Given the description of an element on the screen output the (x, y) to click on. 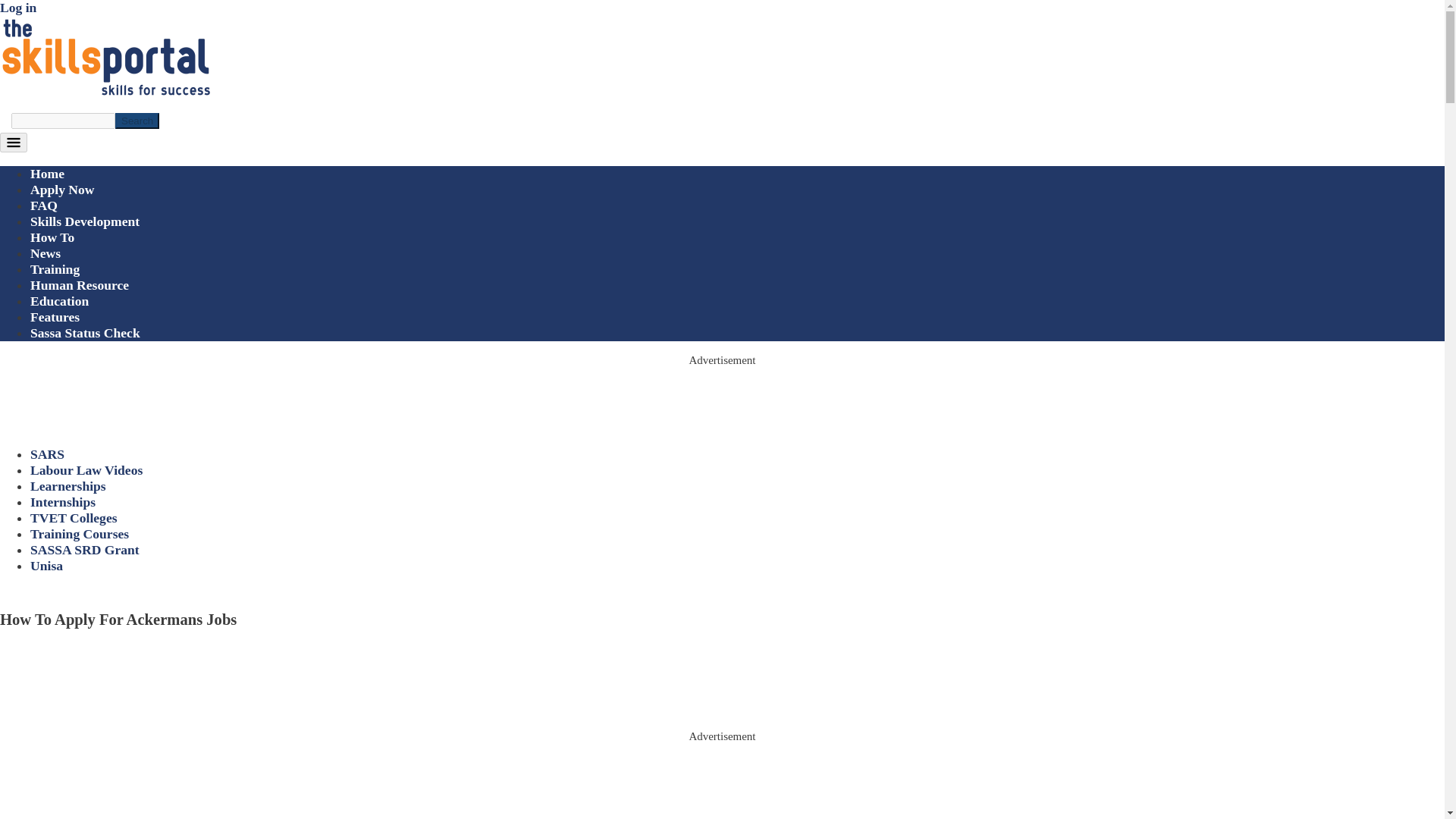
Home (47, 173)
TVET Colleges (73, 517)
How To (52, 237)
Apply Now (62, 189)
SARS (47, 453)
Unisa (46, 565)
Skills Development (84, 221)
Skip to main content (722, 1)
Labour Law Videos (86, 469)
Features (55, 316)
Training Courses (79, 533)
Enter the terms you wish to search for. (63, 120)
Sassa Status Check (84, 332)
Education (59, 300)
Log in (18, 7)
